Given the description of an element on the screen output the (x, y) to click on. 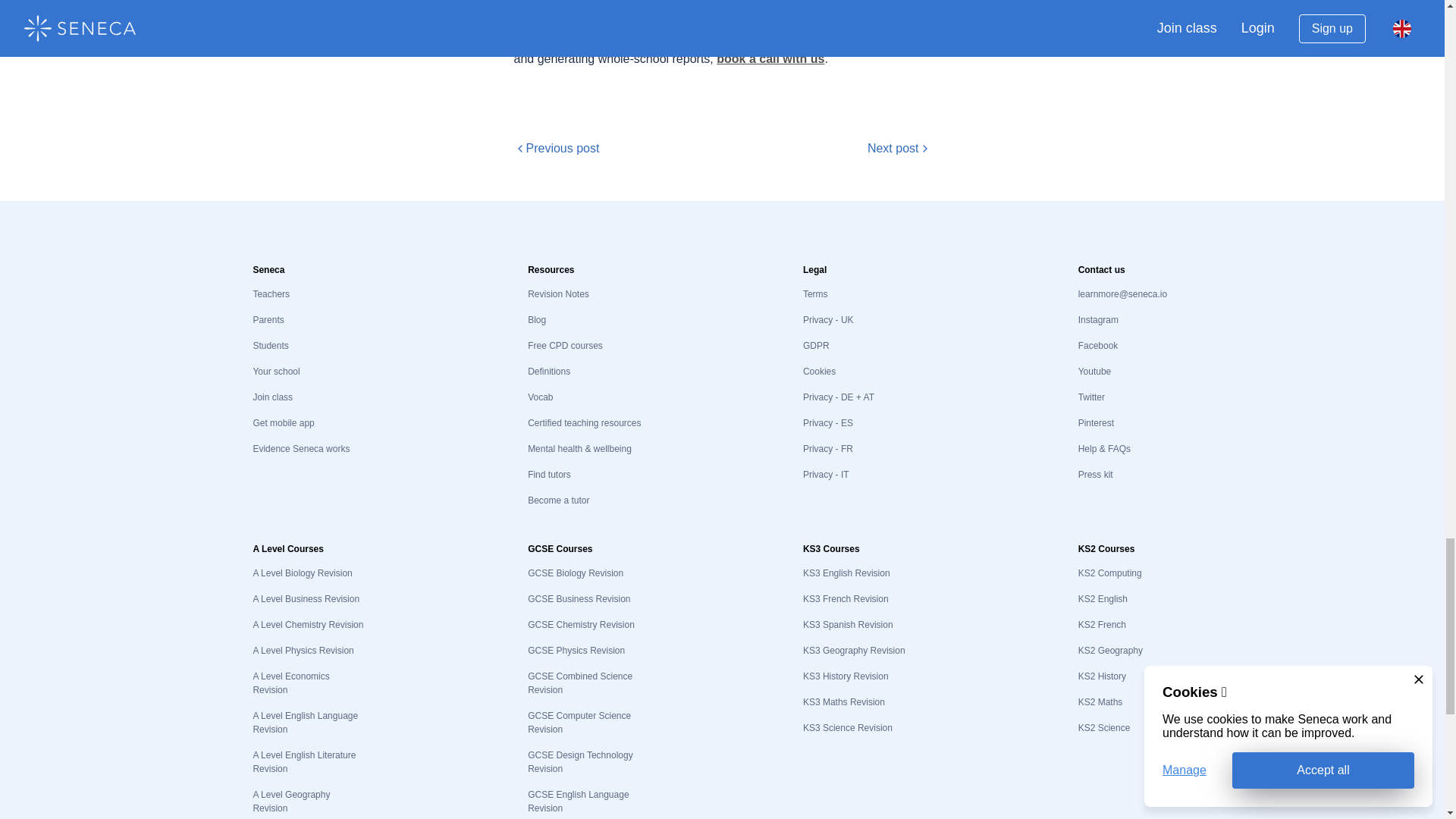
senecalearning.com (778, 10)
Definitions (548, 371)
Certified teaching resources (583, 422)
Evidence Seneca works (300, 448)
Terms (815, 294)
Next post (899, 148)
Previous post (556, 148)
Join class (271, 397)
GDPR (816, 345)
Get mobile app (282, 422)
